Given the description of an element on the screen output the (x, y) to click on. 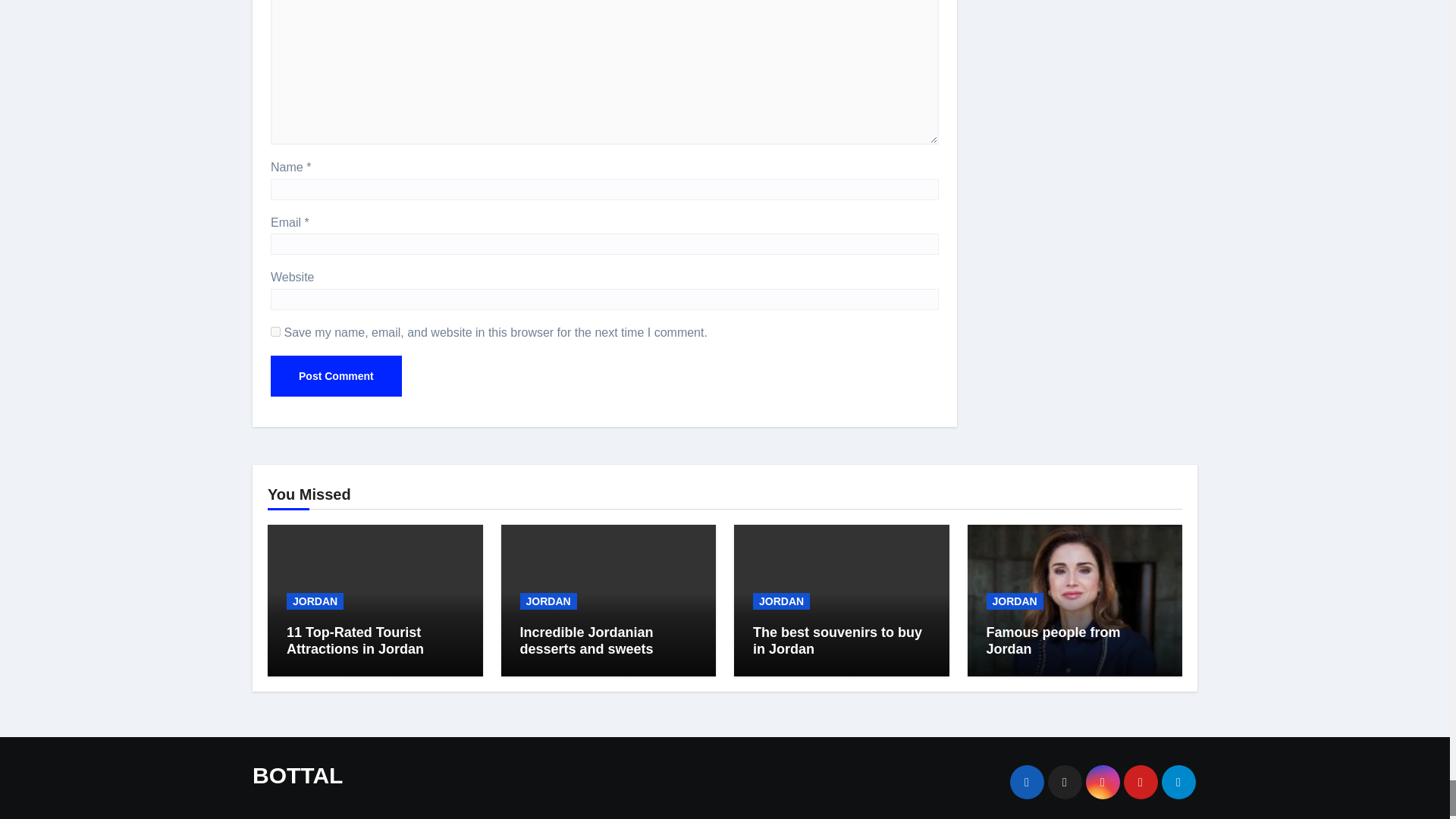
Permalink to: Famous people from Jordan (1052, 640)
Permalink to: 11 Top-Rated Tourist Attractions in Jordan (354, 640)
Permalink to: The best souvenirs to buy in Jordan (836, 640)
yes (275, 331)
Post Comment (335, 375)
Permalink to: Incredible Jordanian desserts and sweets (586, 640)
